Given the description of an element on the screen output the (x, y) to click on. 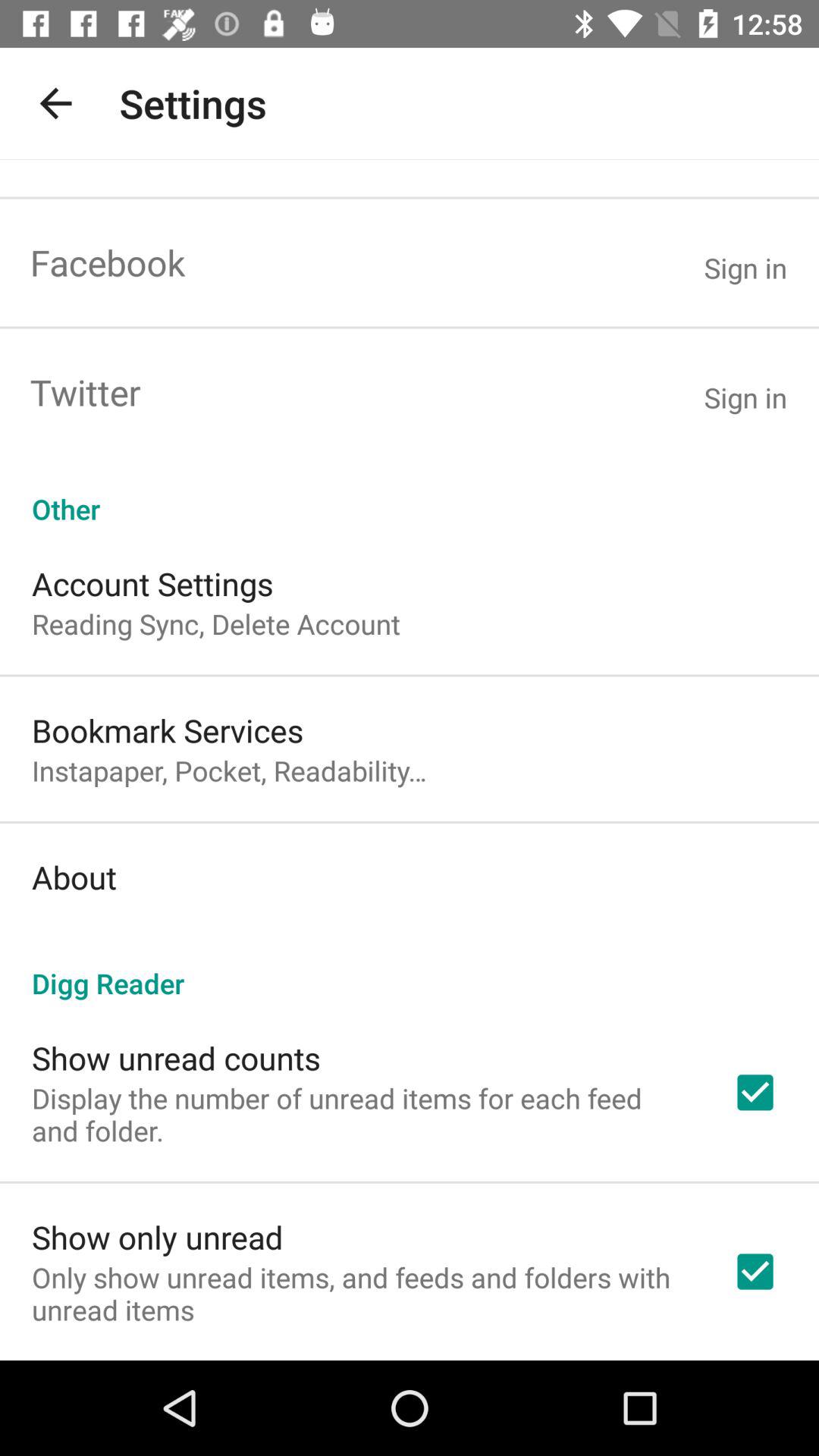
jump until about item (73, 876)
